Given the description of an element on the screen output the (x, y) to click on. 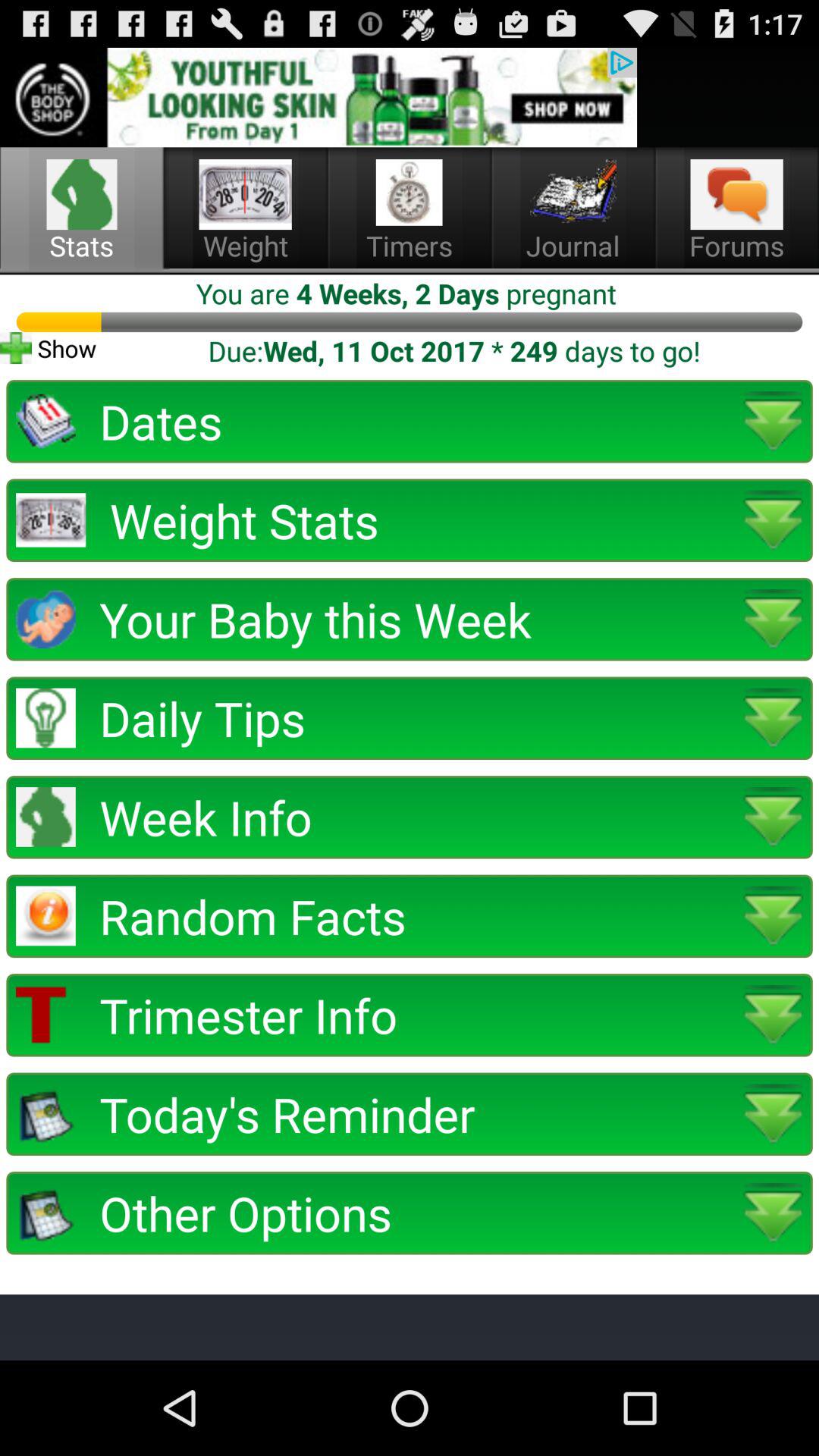
show advertisements detail (318, 97)
